Given the description of an element on the screen output the (x, y) to click on. 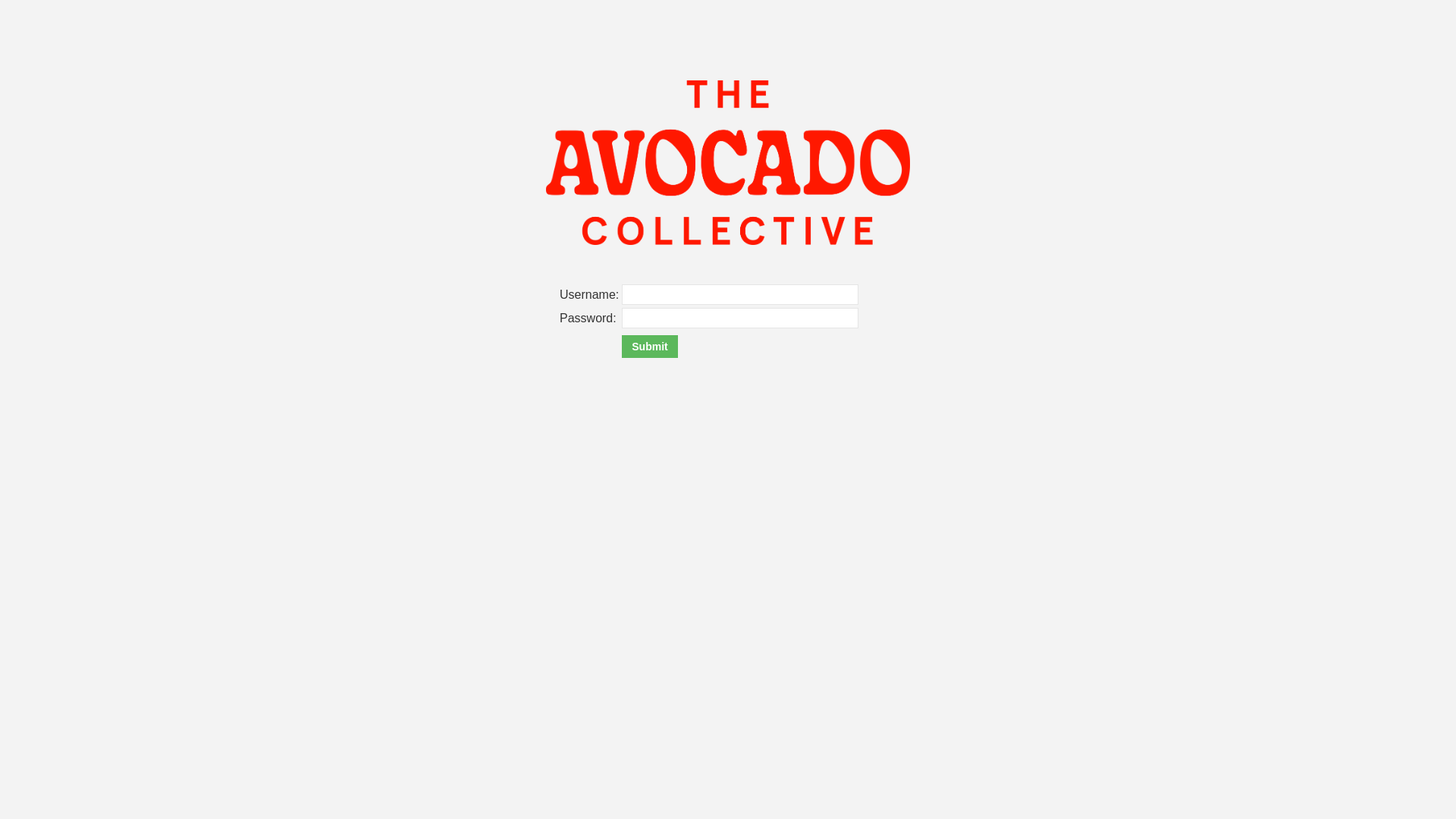
Submit Element type: text (649, 346)
